Given the description of an element on the screen output the (x, y) to click on. 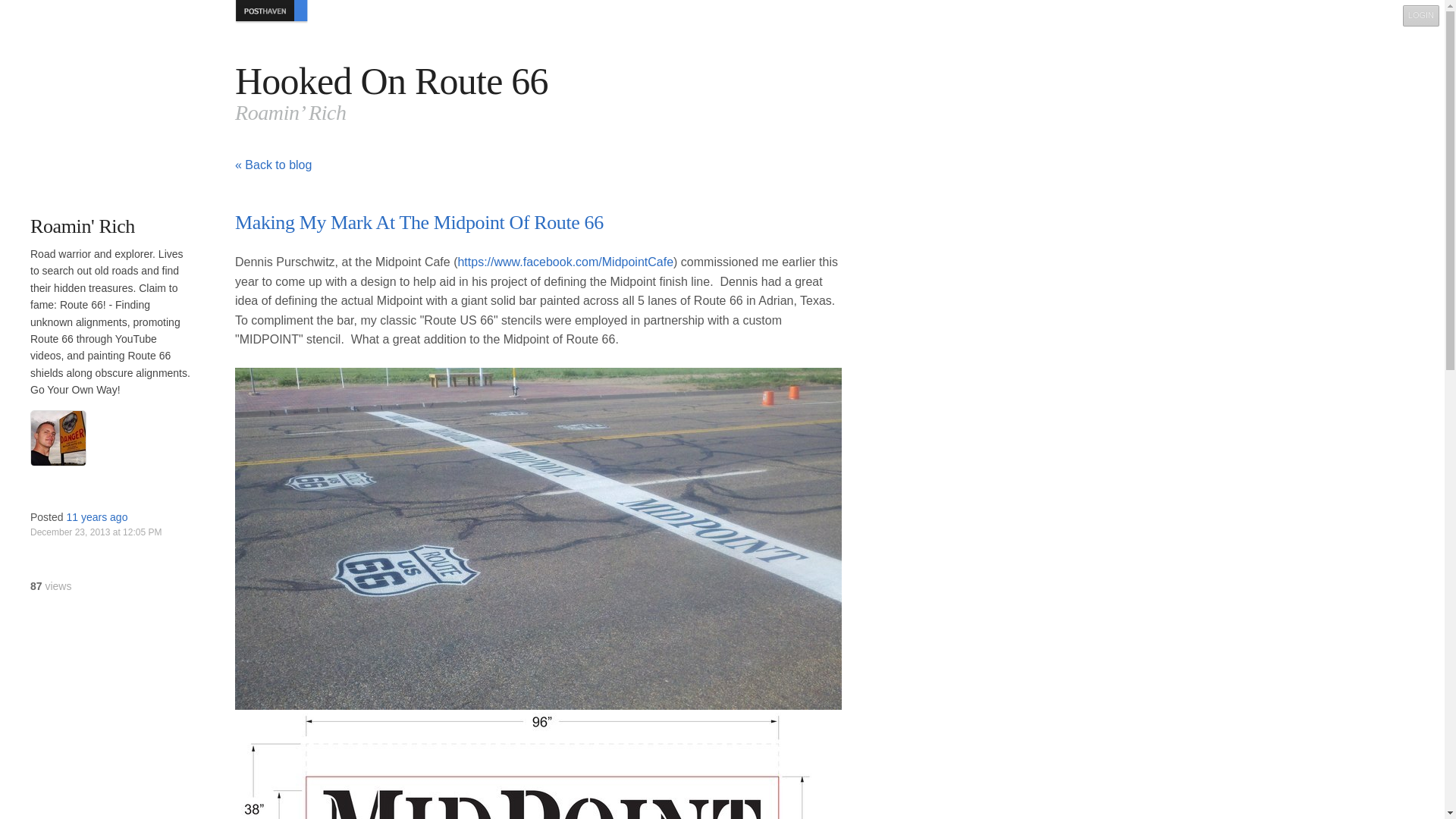
LOGIN (1421, 15)
Making My Mark At The Midpoint Of Route 66 (419, 222)
Hooked On Route 66 (391, 80)
11 years ago (96, 517)
